Given the description of an element on the screen output the (x, y) to click on. 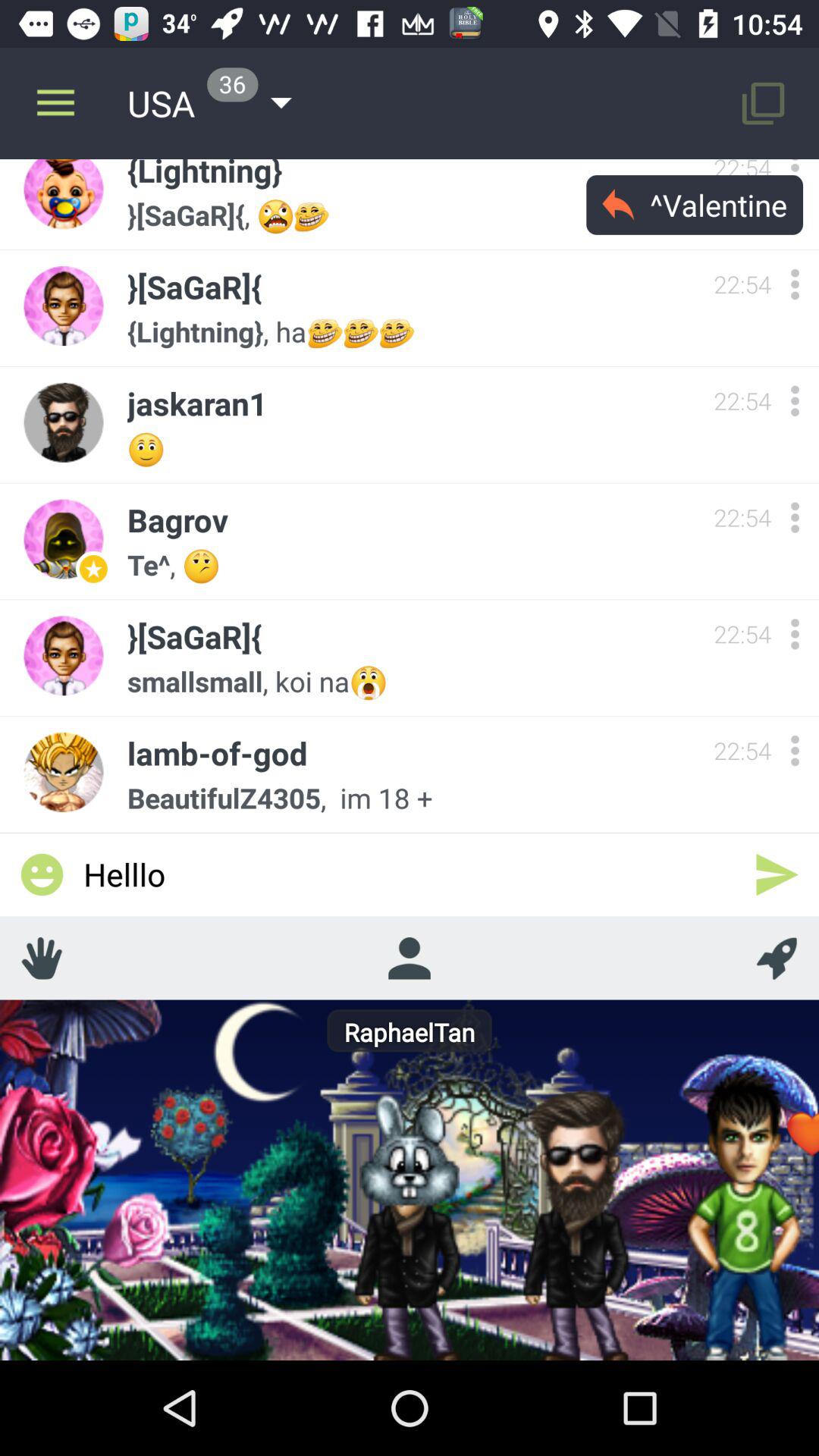
open emoji menu (41, 874)
